Given the description of an element on the screen output the (x, y) to click on. 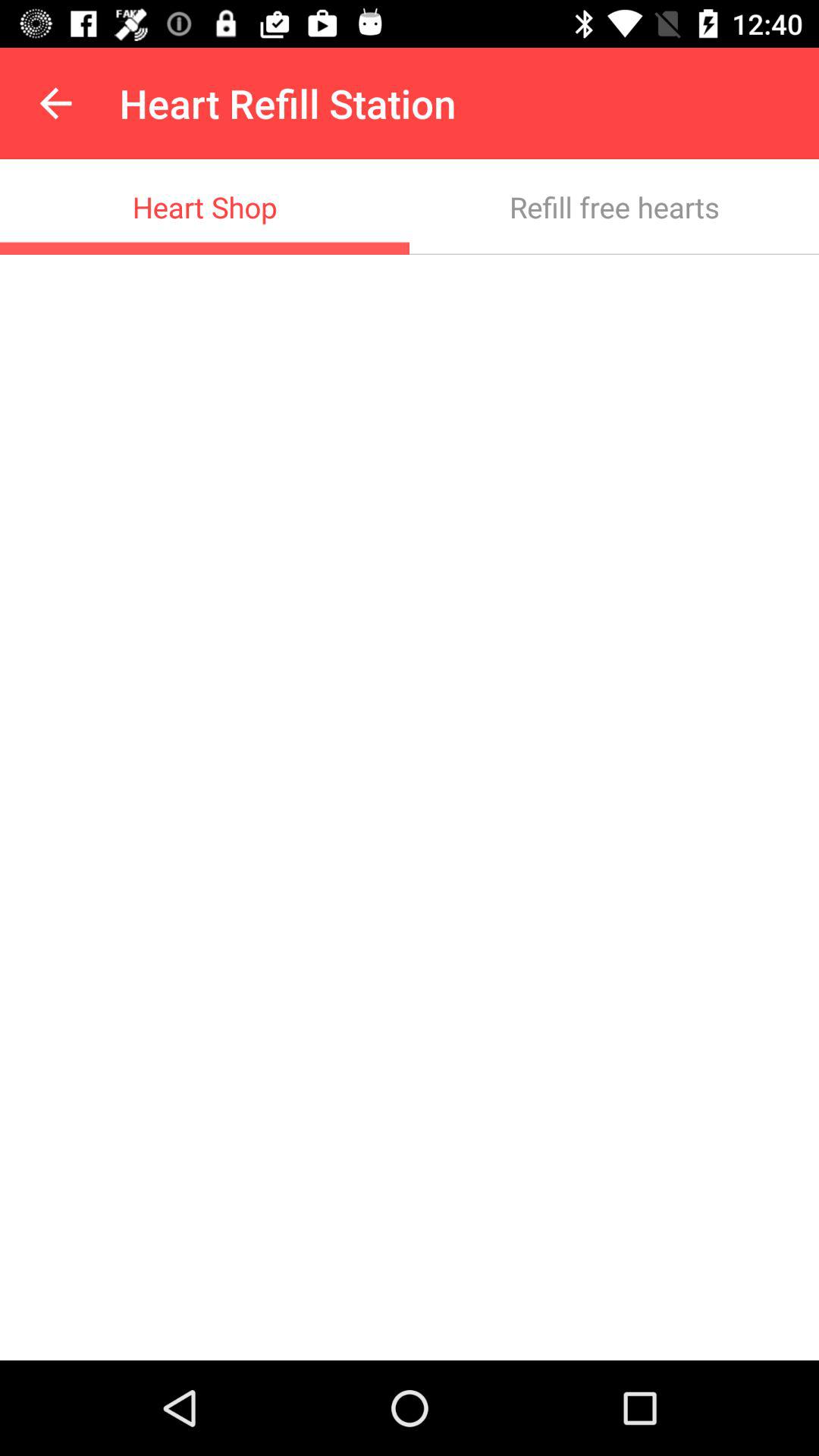
scroll until heart shop (204, 206)
